Given the description of an element on the screen output the (x, y) to click on. 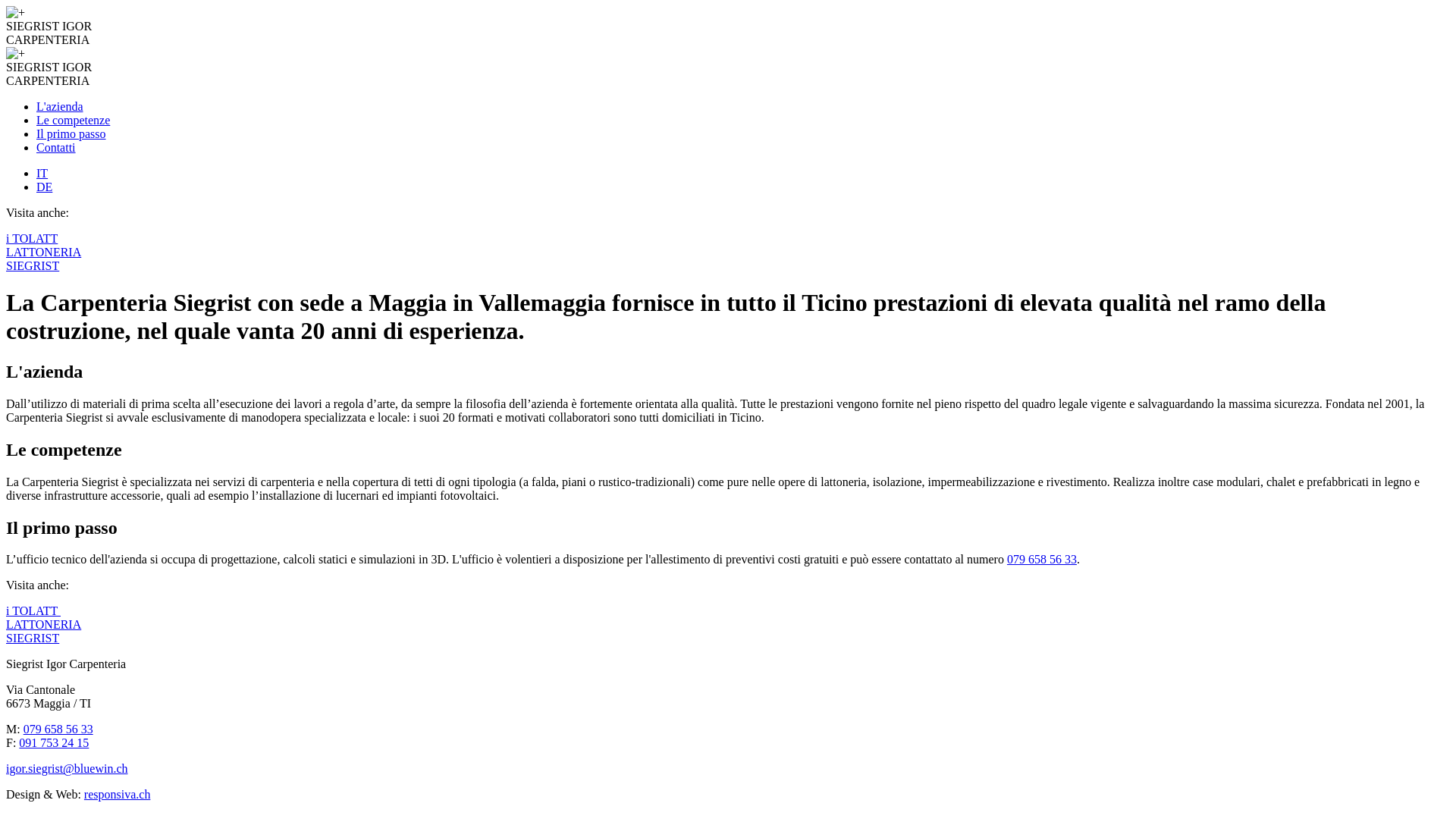
responsiva.ch Element type: text (117, 793)
i TOLATT 
LATTONERIA
SIEGRIST Element type: text (727, 624)
Il primo passo Element type: text (71, 133)
Le competenze Element type: text (72, 119)
IT Element type: text (41, 172)
079 658 56 33 Element type: text (58, 728)
Contatti Element type: text (55, 147)
091 753 24 15 Element type: text (53, 742)
079 658 56 33 Element type: text (1041, 558)
igor.siegrist@bluewin.ch Element type: text (67, 768)
i TOLATT
LATTONERIA
SIEGRIST Element type: text (727, 252)
DE Element type: text (44, 186)
L'azienda Element type: text (59, 106)
